Given the description of an element on the screen output the (x, y) to click on. 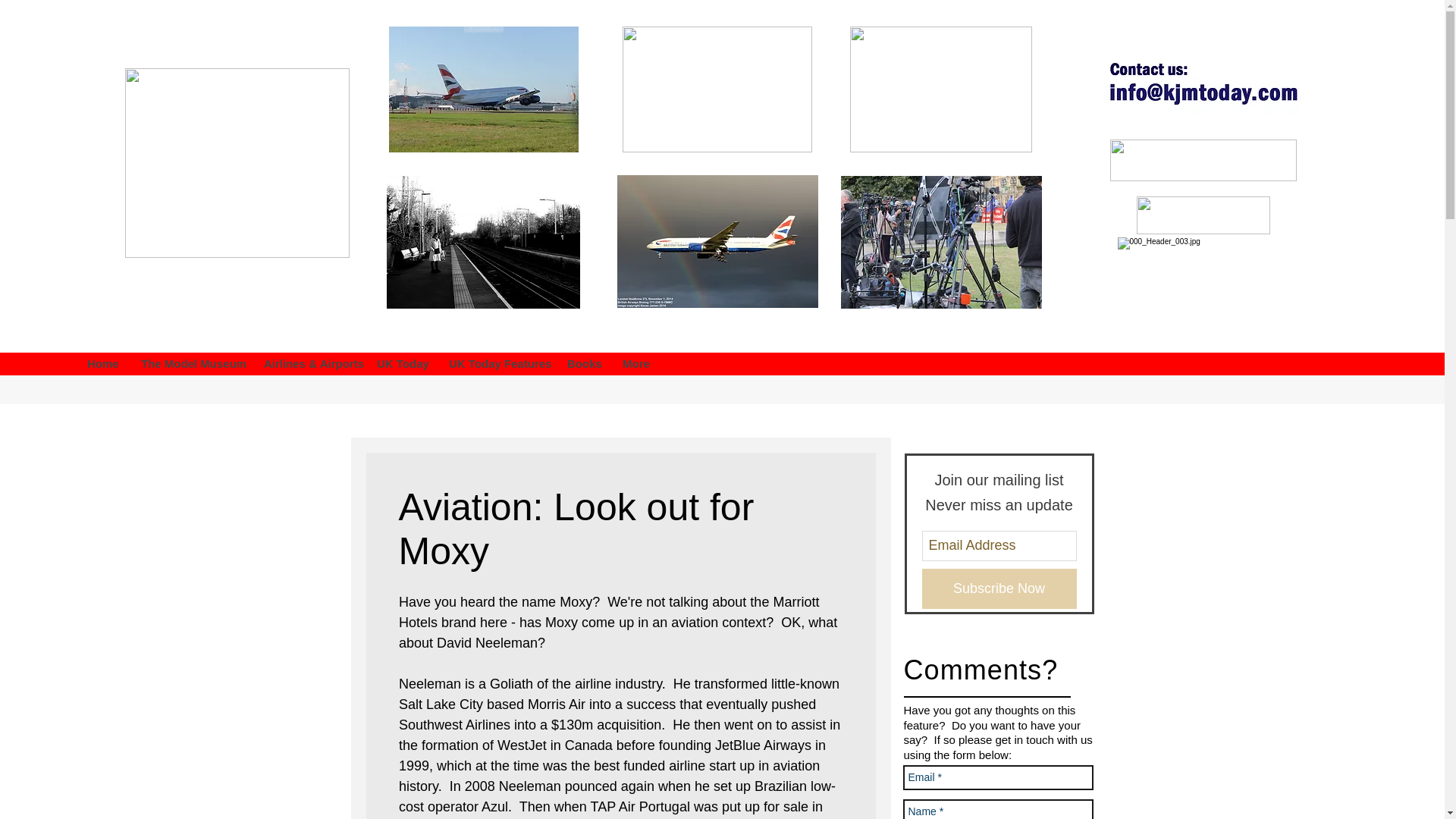
Subscribe Now (999, 588)
Home (102, 363)
The Model Museum (190, 363)
